Given the description of an element on the screen output the (x, y) to click on. 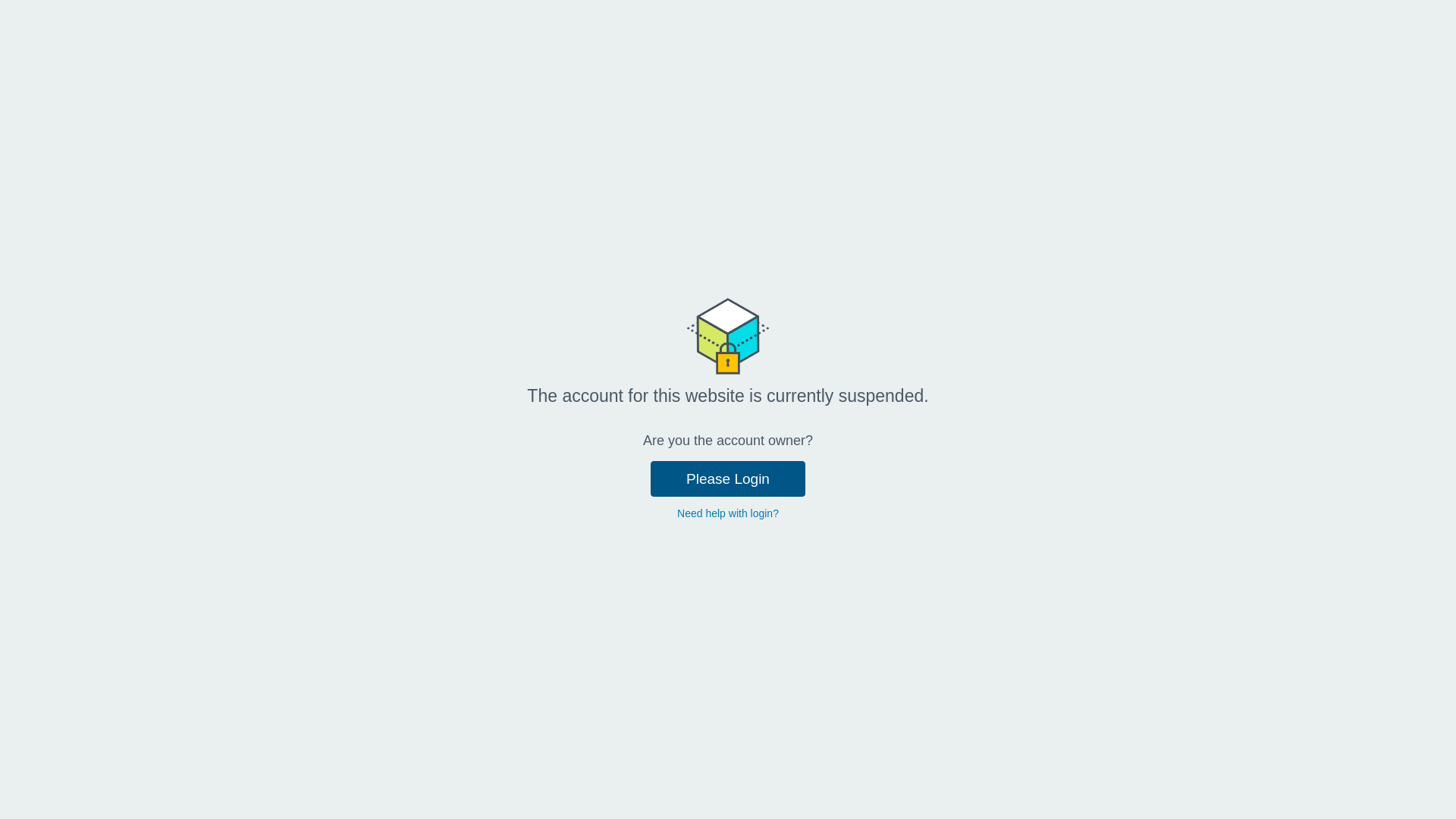
Need help with login? Element type: text (727, 513)
Please Login Element type: text (727, 478)
